Given the description of an element on the screen output the (x, y) to click on. 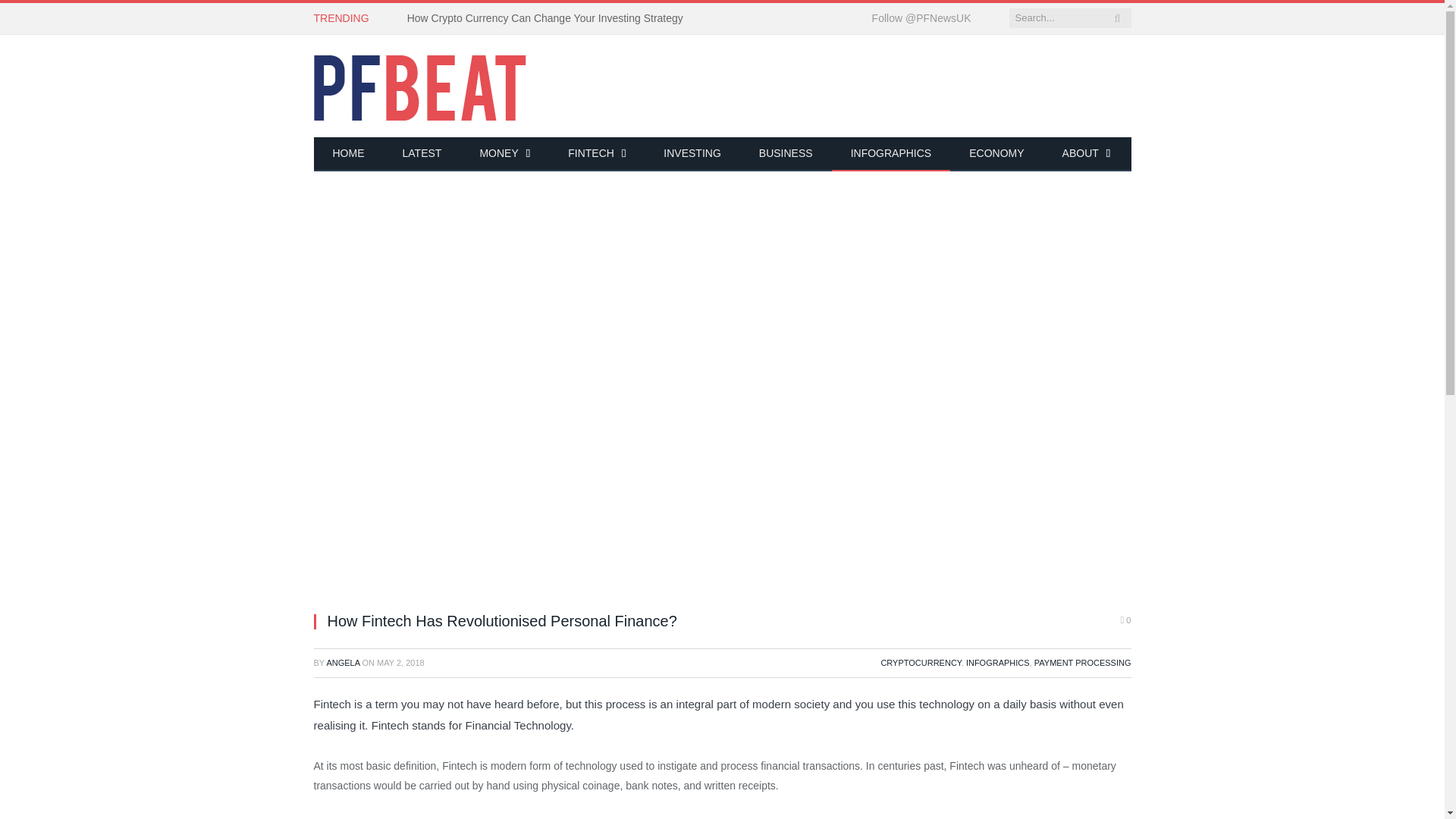
INVESTING (692, 154)
HOME (349, 154)
MONEY (504, 154)
Personal Finance Beat (419, 85)
Posts by angela (342, 662)
ABOUT (1086, 154)
How Crypto Currency Can Change Your Investing Strategy (548, 18)
FINTECH (596, 154)
PAYMENT PROCESSING (1082, 662)
LATEST (422, 154)
How Crypto Currency Can Change Your Investing Strategy (548, 18)
ECONOMY (996, 154)
CRYPTOCURRENCY (920, 662)
BUSINESS (785, 154)
